Given the description of an element on the screen output the (x, y) to click on. 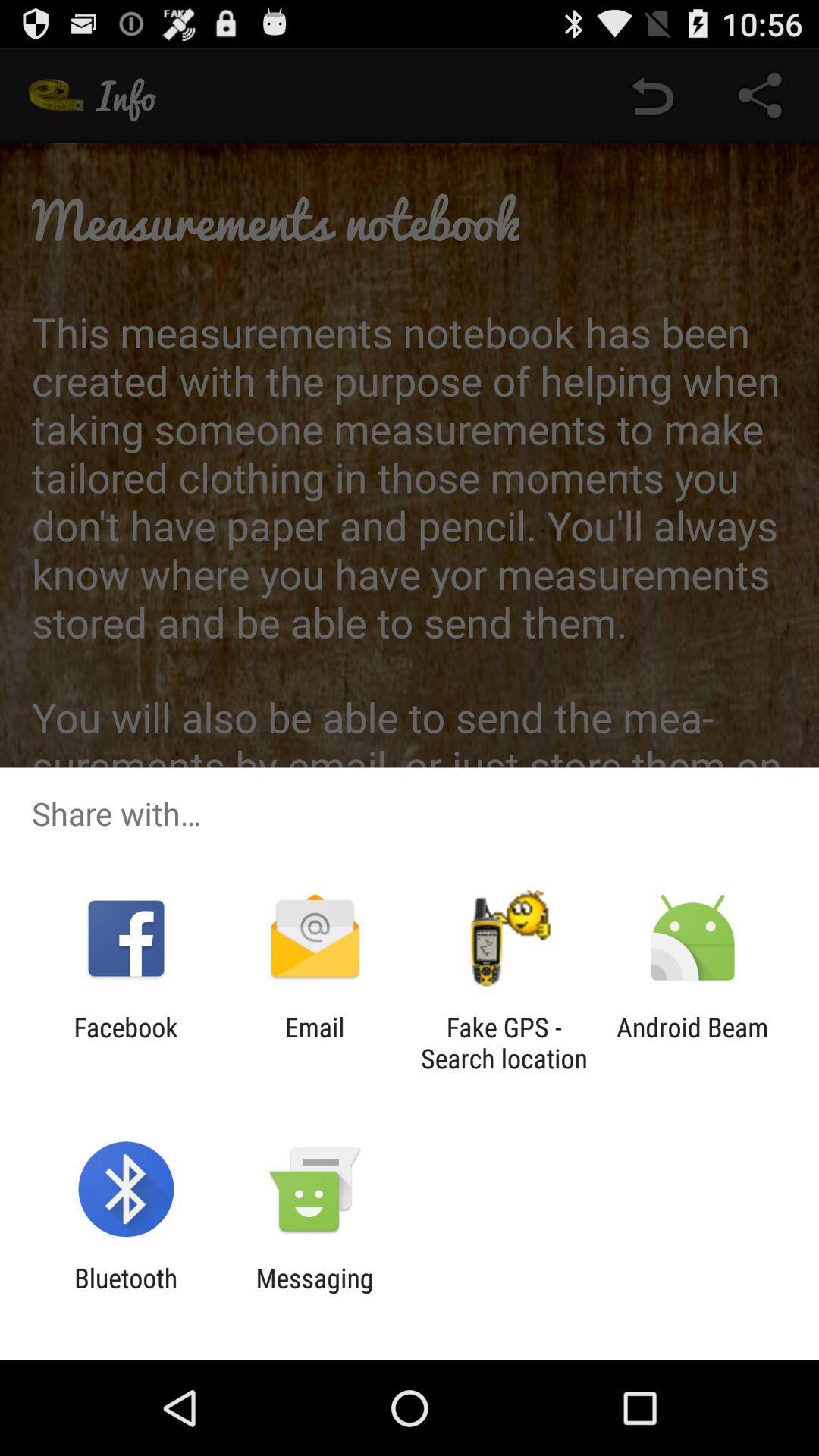
turn off the fake gps search app (503, 1042)
